Given the description of an element on the screen output the (x, y) to click on. 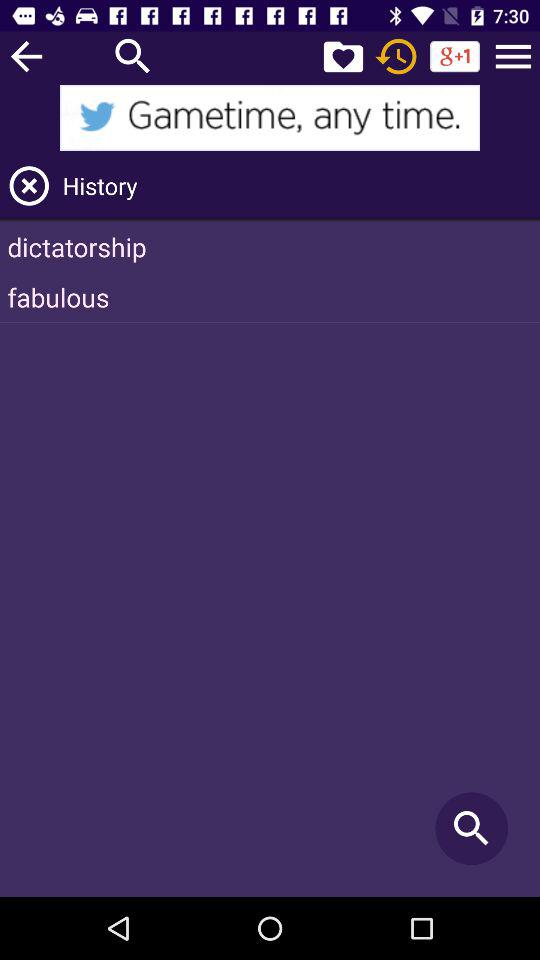
turn on app next to the history app (29, 185)
